Given the description of an element on the screen output the (x, y) to click on. 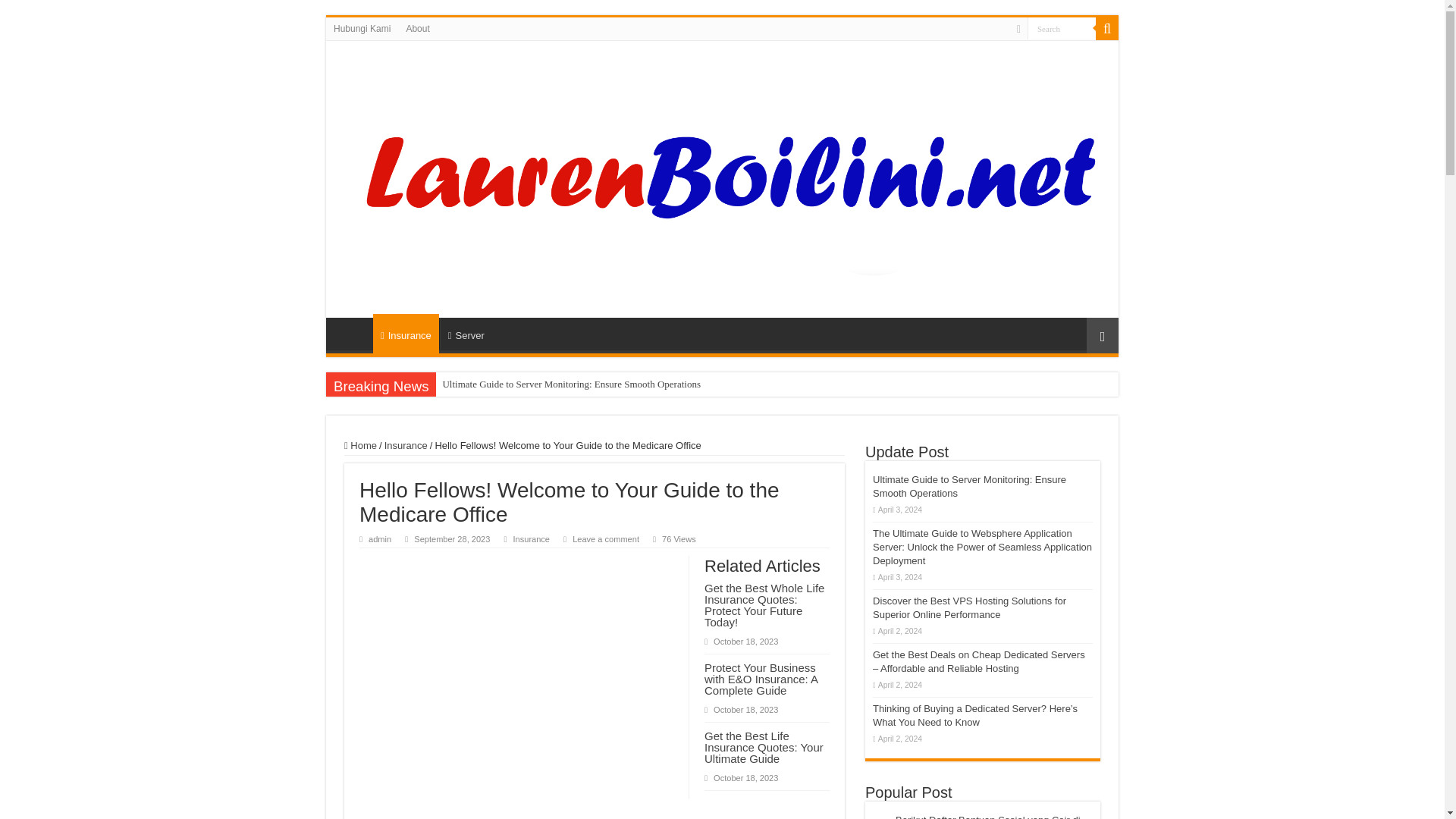
Search (1061, 28)
Server (465, 333)
Home (360, 445)
Leave a comment (605, 538)
Hubungi Kami (361, 28)
Insurance (531, 538)
Get the Best Life Insurance Quotes: Your Ultimate Guide (764, 746)
Insurance (406, 445)
About (416, 28)
Random Article (1102, 334)
Laurenboilini.net (721, 176)
admin (379, 538)
Search (1061, 28)
